Given the description of an element on the screen output the (x, y) to click on. 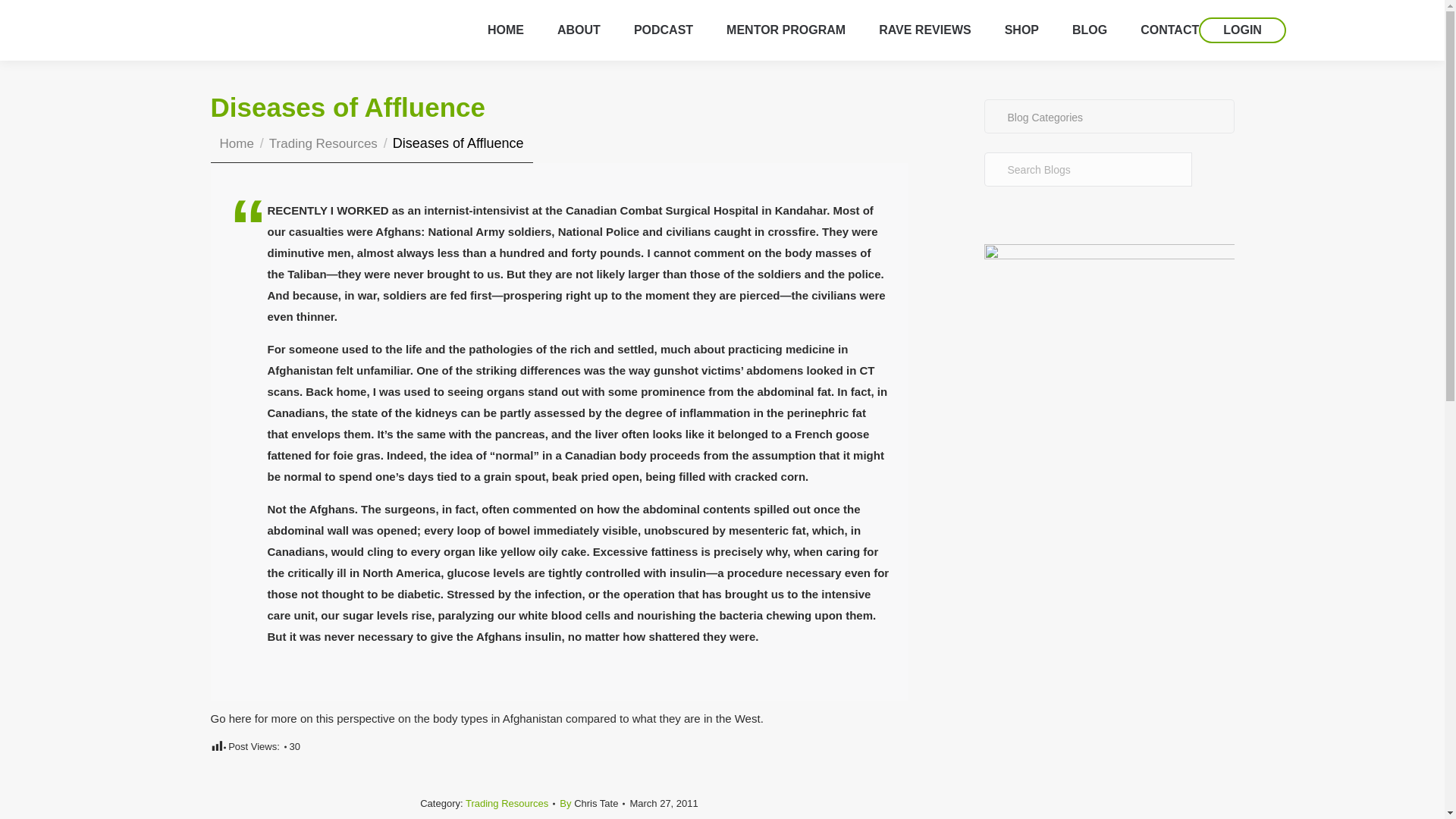
7:21 am (662, 803)
BLOG (1088, 29)
PODCAST (663, 29)
SHOP (1021, 29)
View all posts by Chris Tate (591, 803)
Home (236, 143)
RAVE REVIEWS (925, 29)
CONTACT (1169, 29)
HOME (505, 29)
LOGIN (1241, 29)
